Given the description of an element on the screen output the (x, y) to click on. 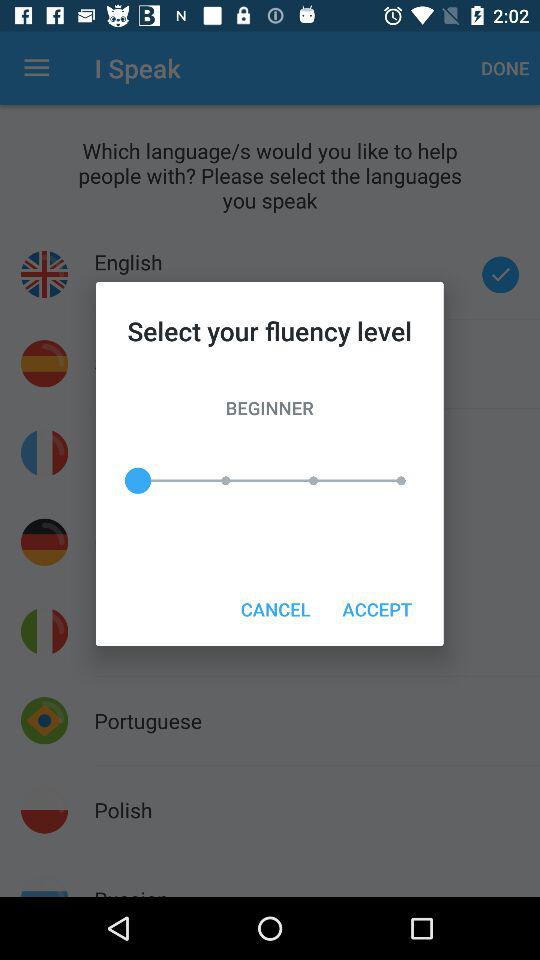
press the item to the left of the accept (275, 608)
